Given the description of an element on the screen output the (x, y) to click on. 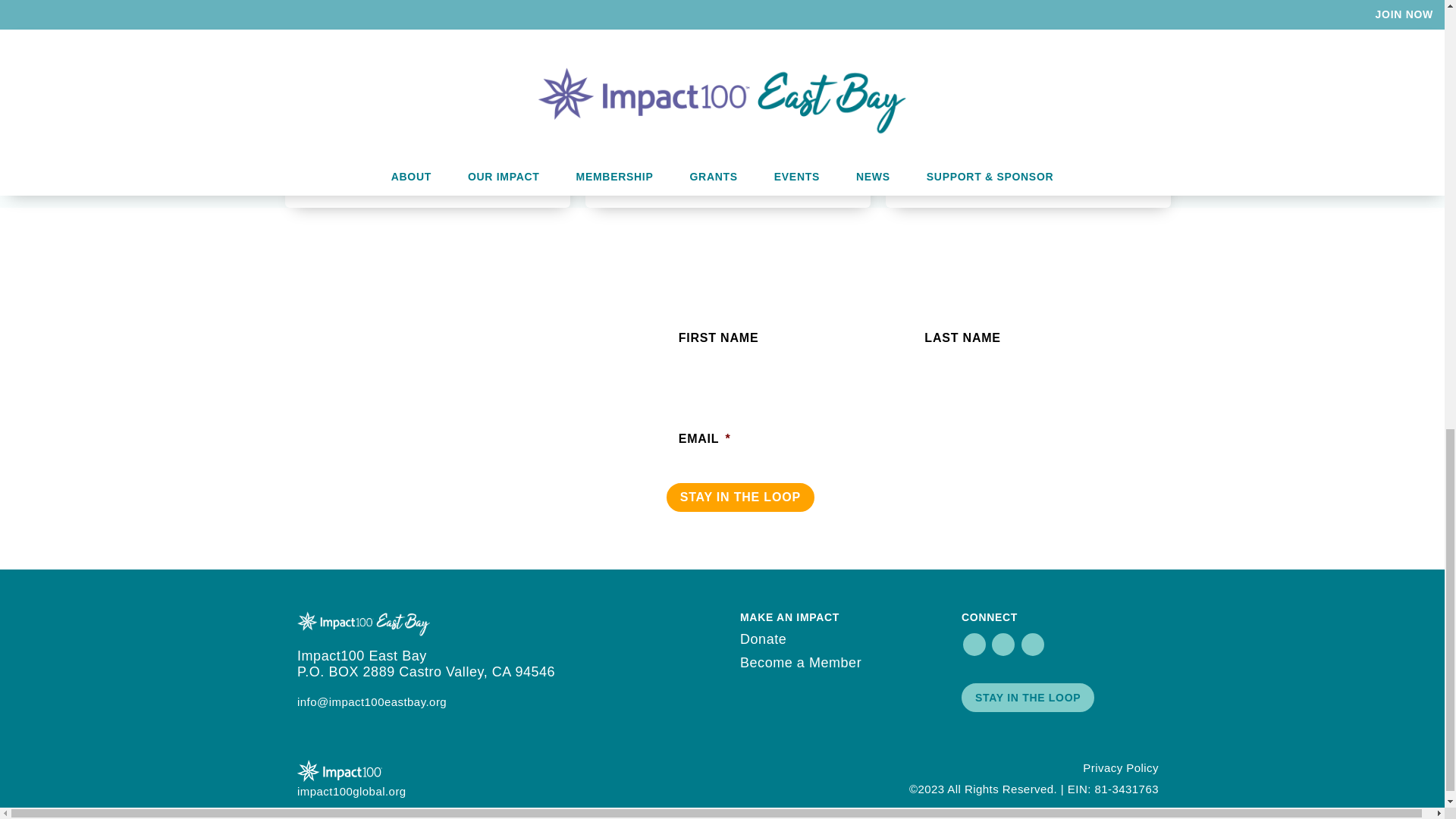
READ MORE (656, 170)
READ MORE (957, 170)
Stay in the Loop (739, 497)
Stay in the Loop (739, 497)
READ MORE (355, 170)
